Given the description of an element on the screen output the (x, y) to click on. 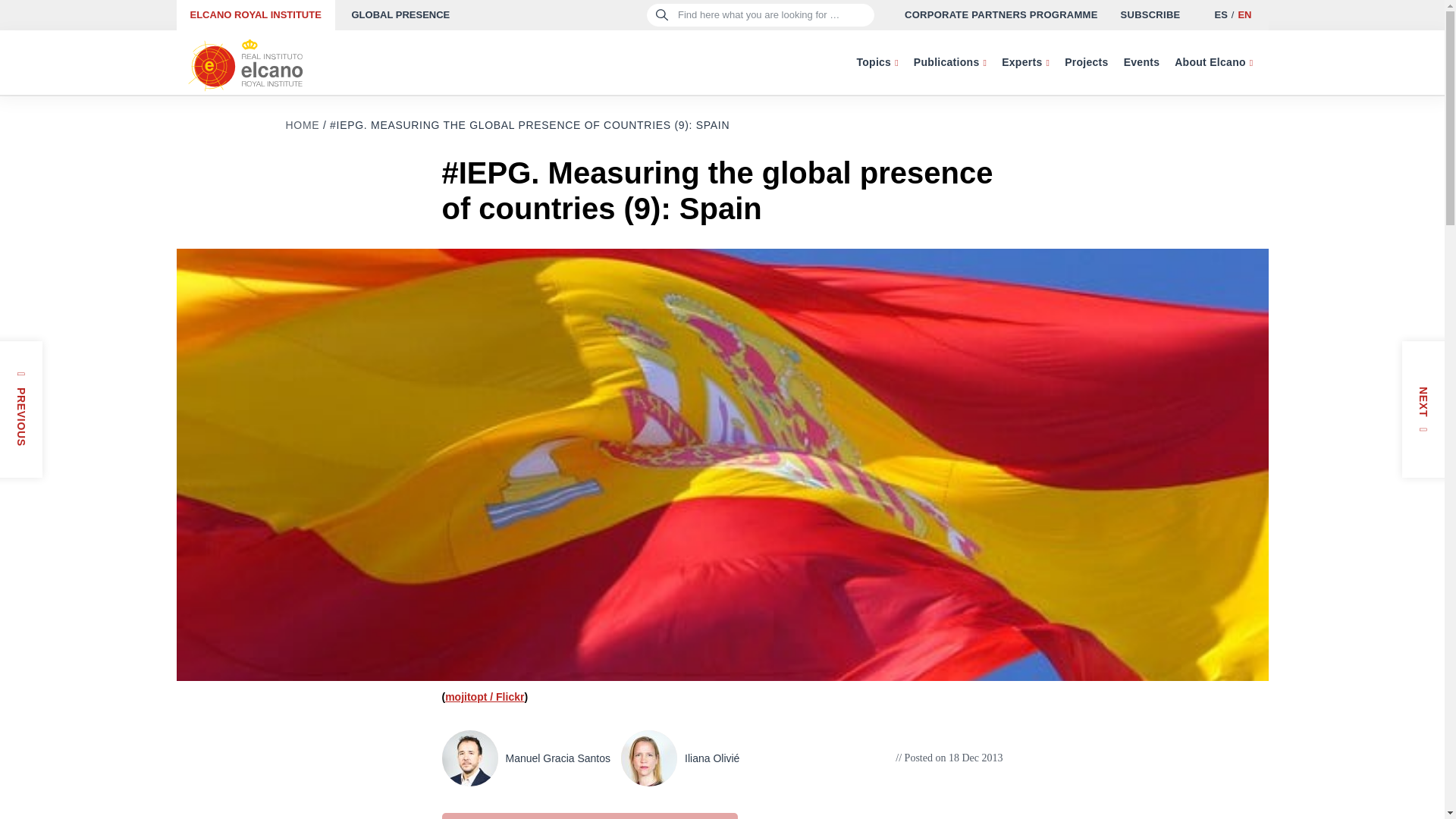
Search (39, 18)
EN (1244, 14)
ES (1219, 14)
CORPORATE PARTNERS PROGRAMME (1000, 15)
GLOBAL PRESENCE (400, 15)
Publications (949, 61)
Posted on 13 Dec 2013 (5, 439)
SUBSCRIBE (1150, 15)
Posted on 18 Dec 2013 (949, 758)
Topics (876, 61)
